Given the description of an element on the screen output the (x, y) to click on. 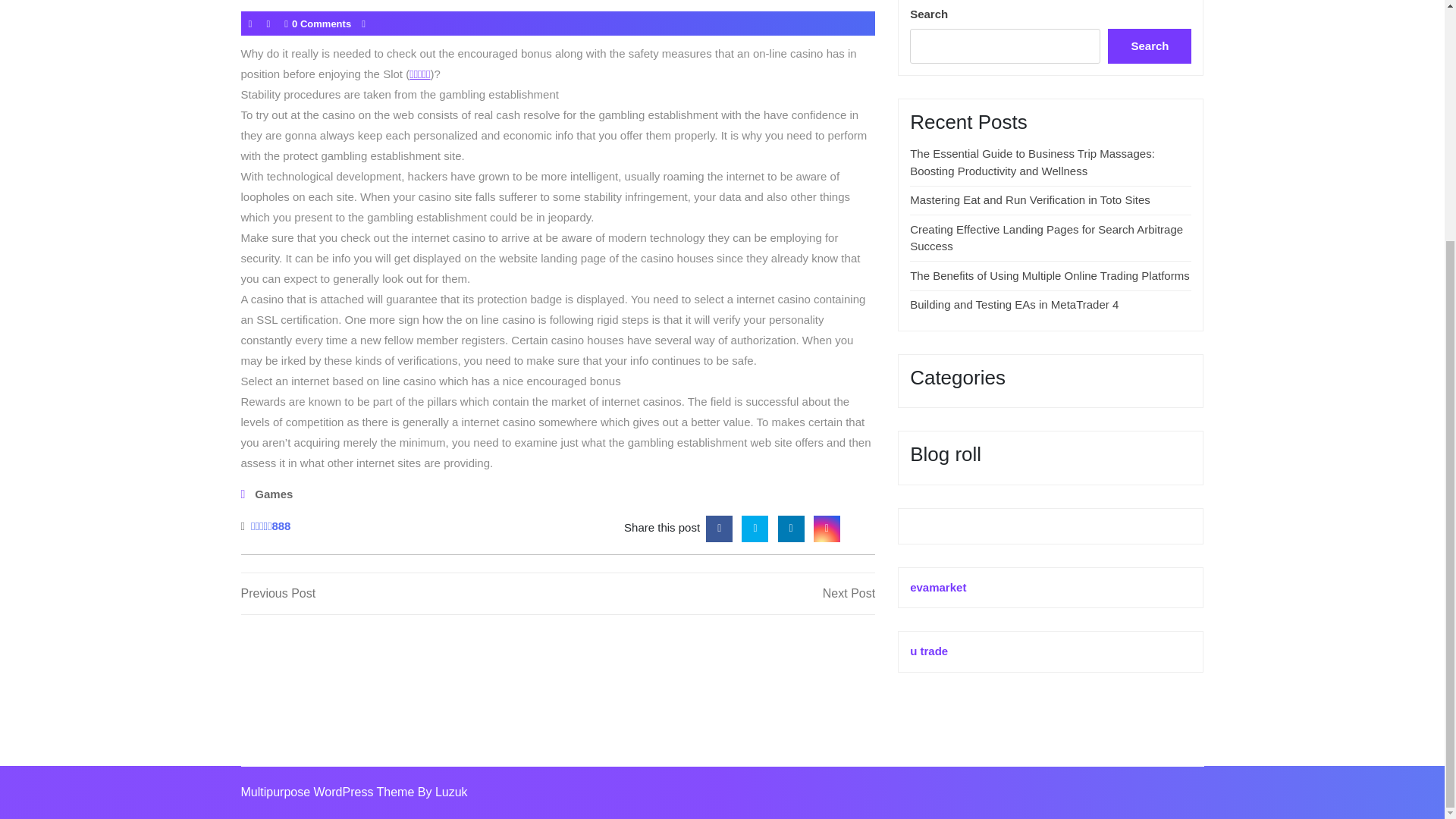
Linkedin (791, 526)
Facebook (719, 526)
u trade (928, 650)
The Benefits of Using Multiple Online Trading Platforms (1049, 275)
Building and Testing EAs in MetaTrader 4 (1014, 304)
Games (273, 494)
Search (1149, 45)
evamarket (938, 586)
